Given the description of an element on the screen output the (x, y) to click on. 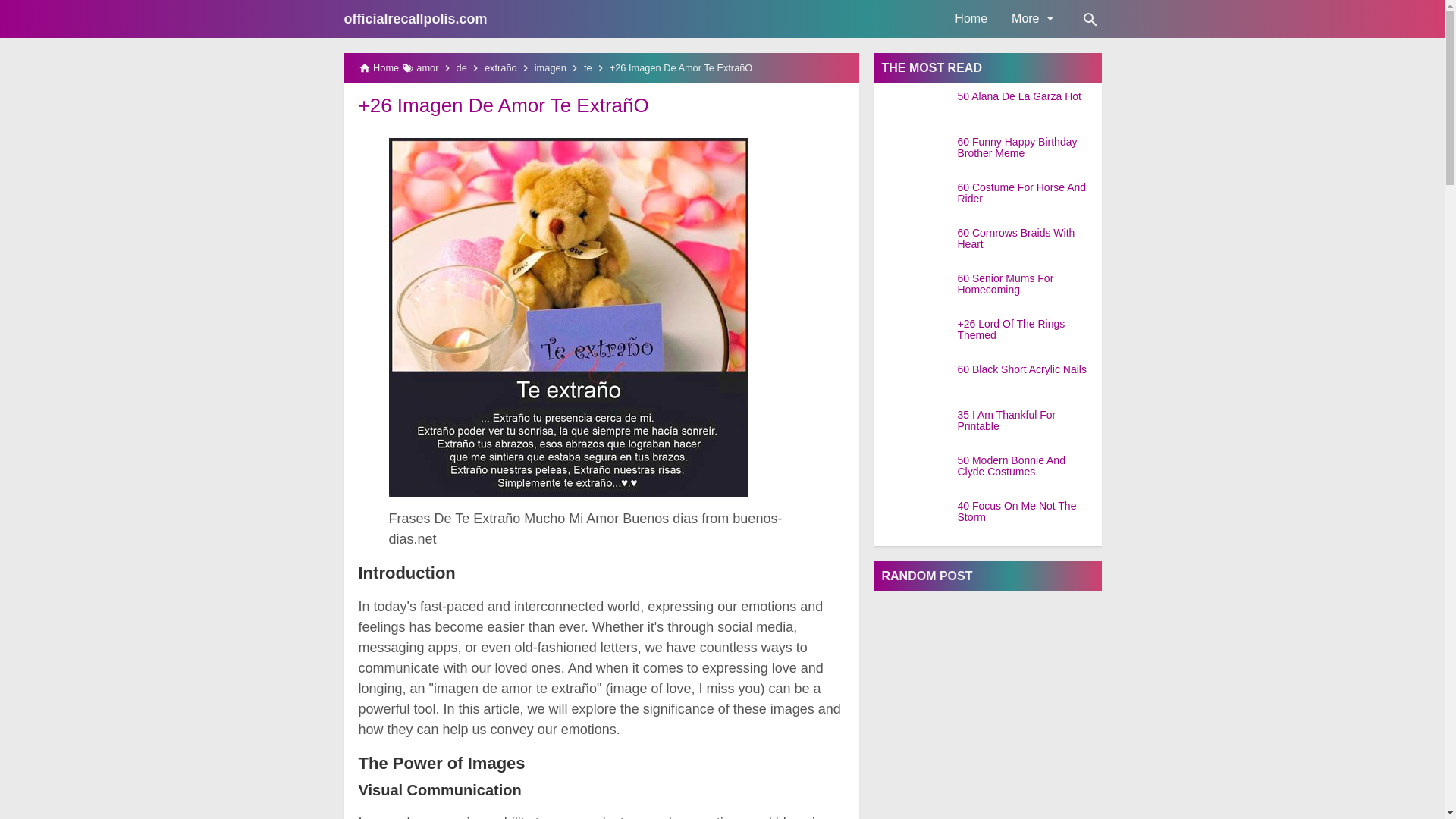
60 Cornrows Braids With Heart (1028, 238)
officialrecallpolis.com (415, 18)
50 Modern Bonnie And Clyde Costumes (1028, 466)
60 Senior Mums For Homecoming (1028, 284)
60 Black Short Acrylic Nails (1028, 369)
60 Costume For Horse And Rider (1028, 193)
Home (970, 18)
35 I Am Thankful For Printable (1028, 421)
imagen (550, 68)
Home (970, 18)
40 Focus On Me Not The Storm (1028, 512)
imagen (550, 68)
officialrecallpolis.com (415, 18)
More (1030, 18)
60 Funny Happy Birthday Brother Meme (1028, 147)
